Given the description of an element on the screen output the (x, y) to click on. 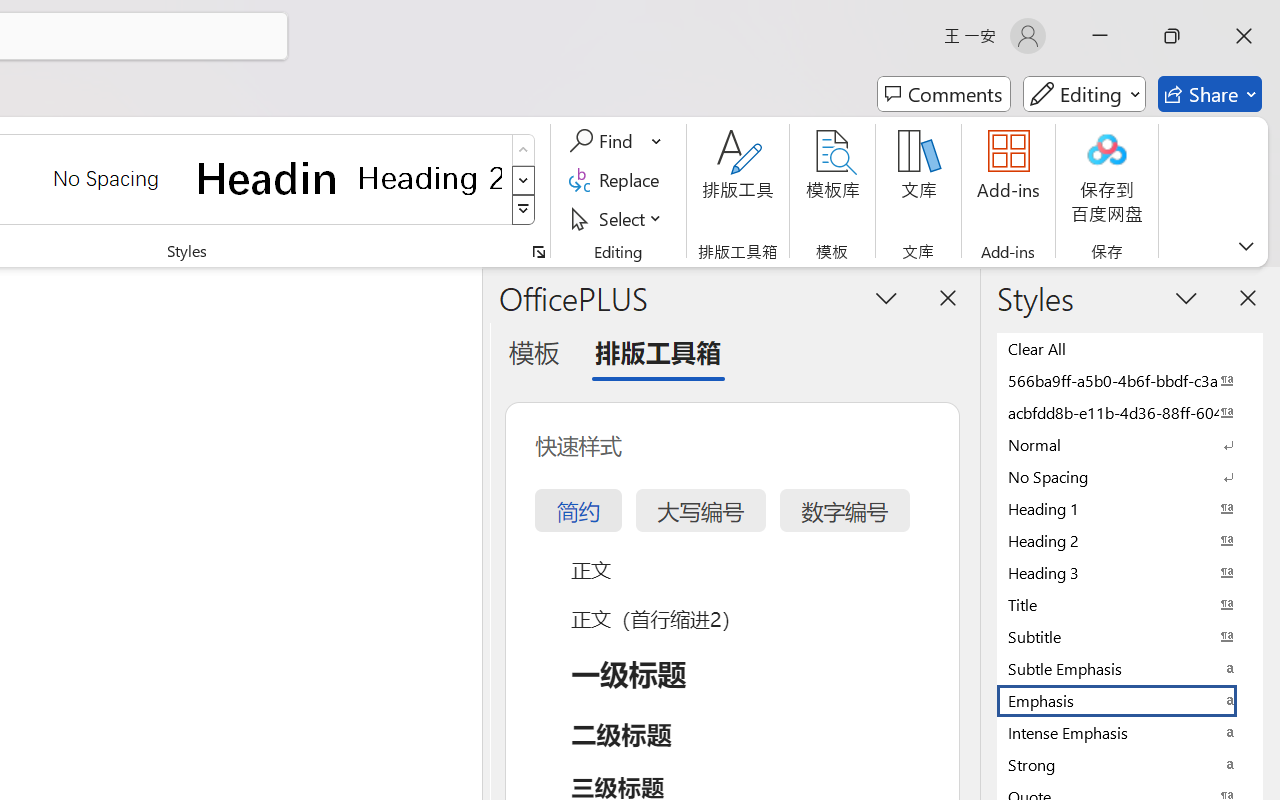
Heading 1 (267, 178)
Subtle Emphasis (1130, 668)
Minimize (1099, 36)
Close (1244, 36)
Styles... (538, 252)
No Spacing (1130, 476)
Normal (1130, 444)
Restore Down (1172, 36)
566ba9ff-a5b0-4b6f-bbdf-c3ab41993fc2 (1130, 380)
